Given the description of an element on the screen output the (x, y) to click on. 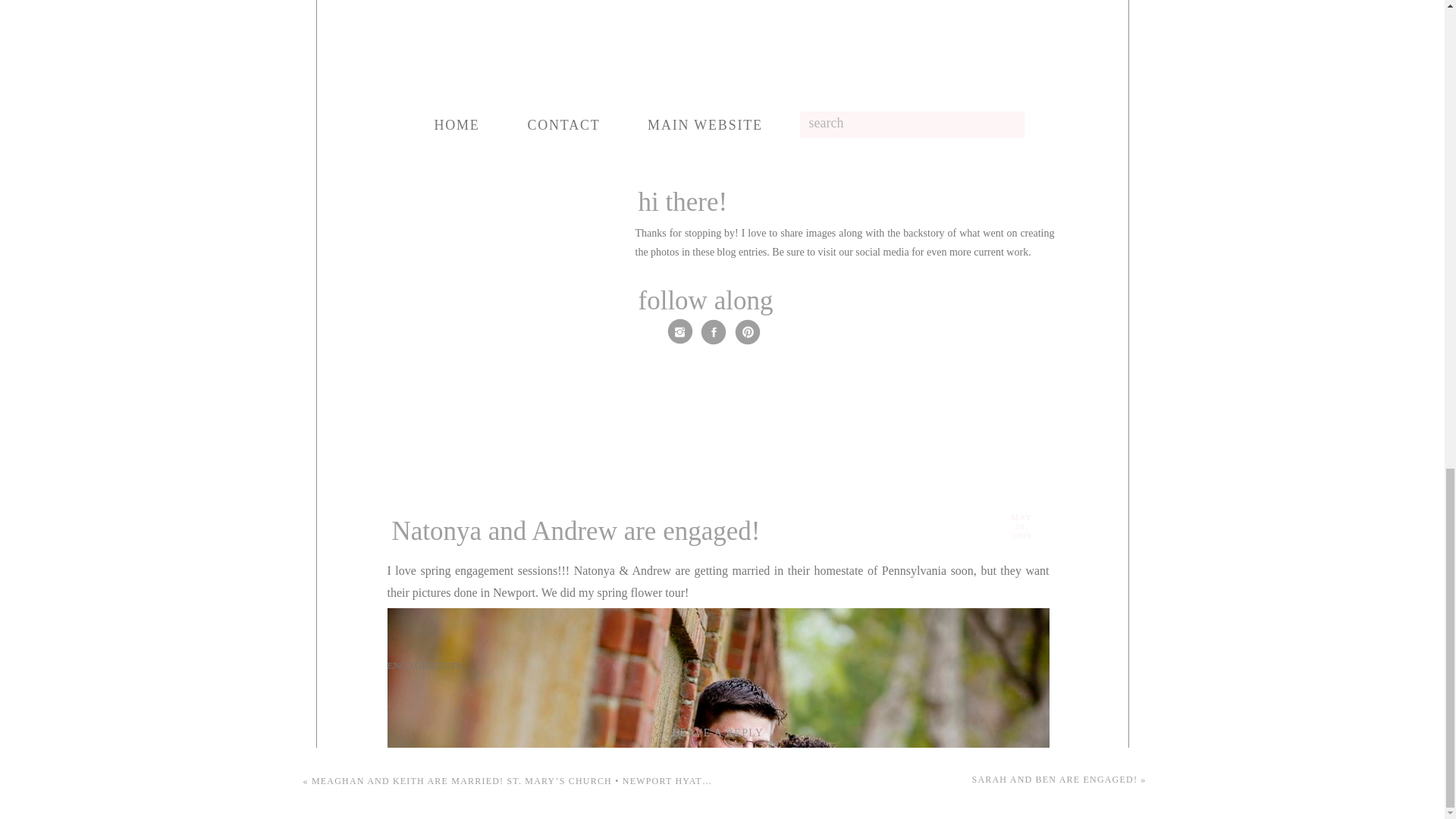
SARAH AND BEN ARE ENGAGED! (1055, 778)
HOME (457, 126)
CONTACT (564, 126)
ENGAGEMENTS (424, 665)
MAIN WEBSITE (704, 126)
